Given the description of an element on the screen output the (x, y) to click on. 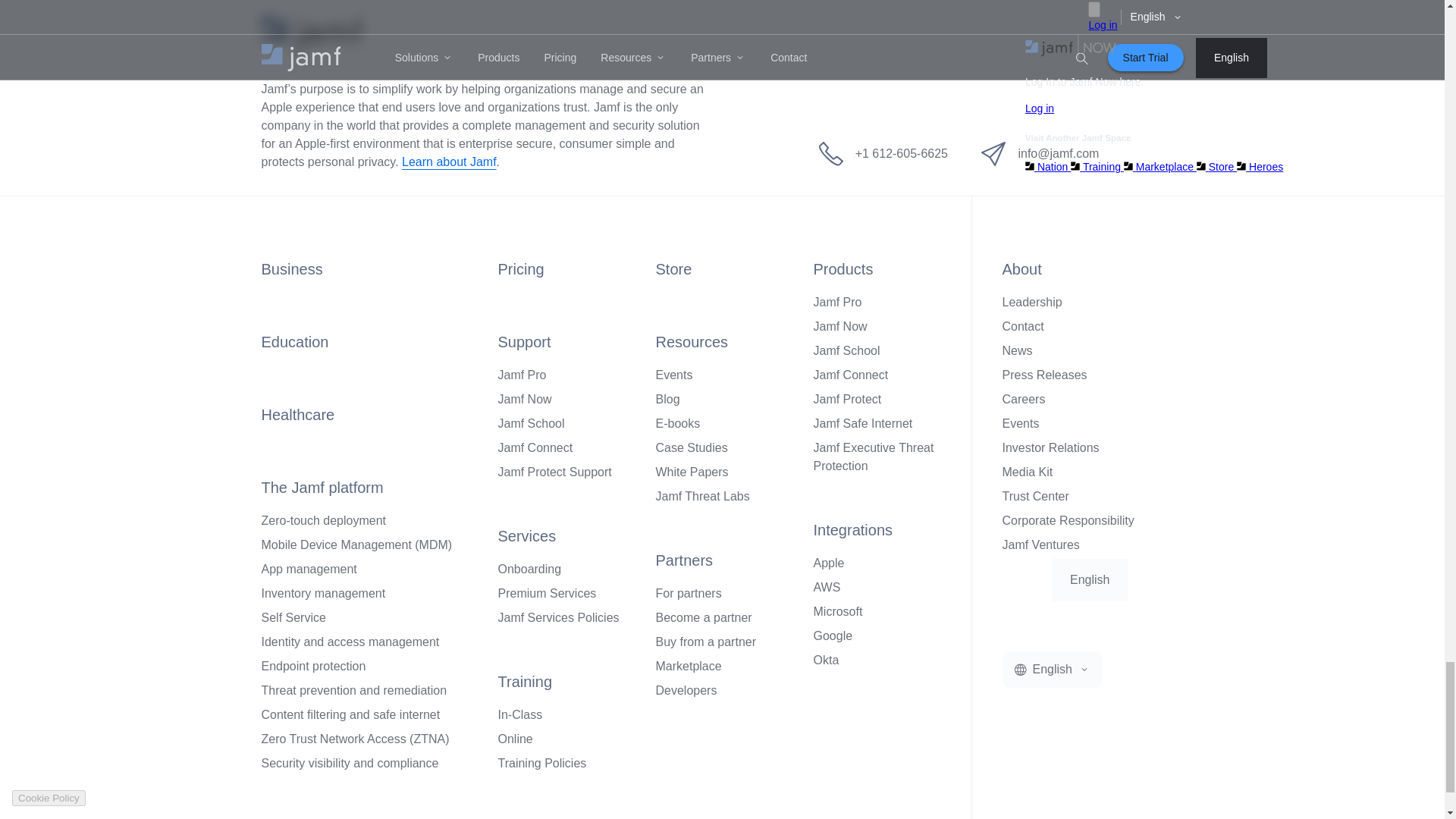
Jamf (310, 32)
